Given the description of an element on the screen output the (x, y) to click on. 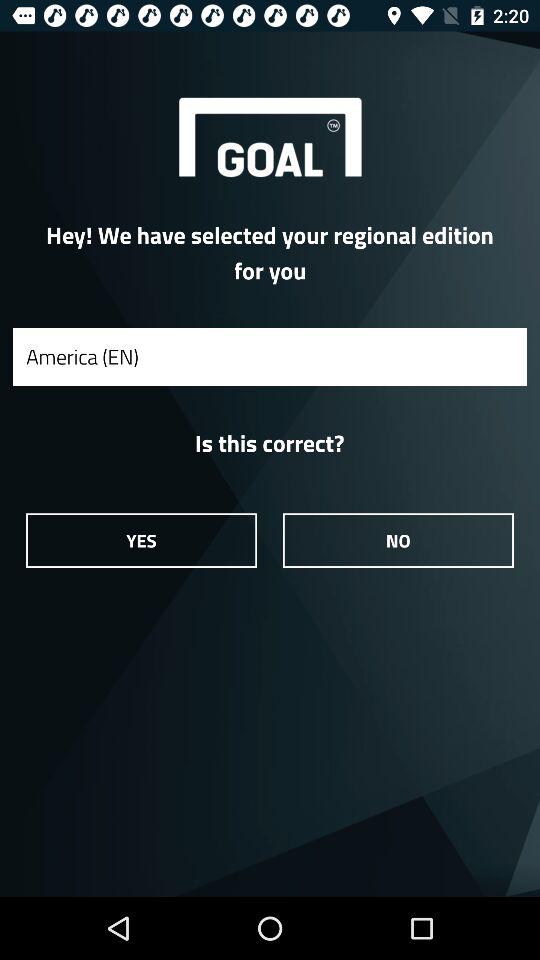
choose no on the right (398, 540)
